Given the description of an element on the screen output the (x, y) to click on. 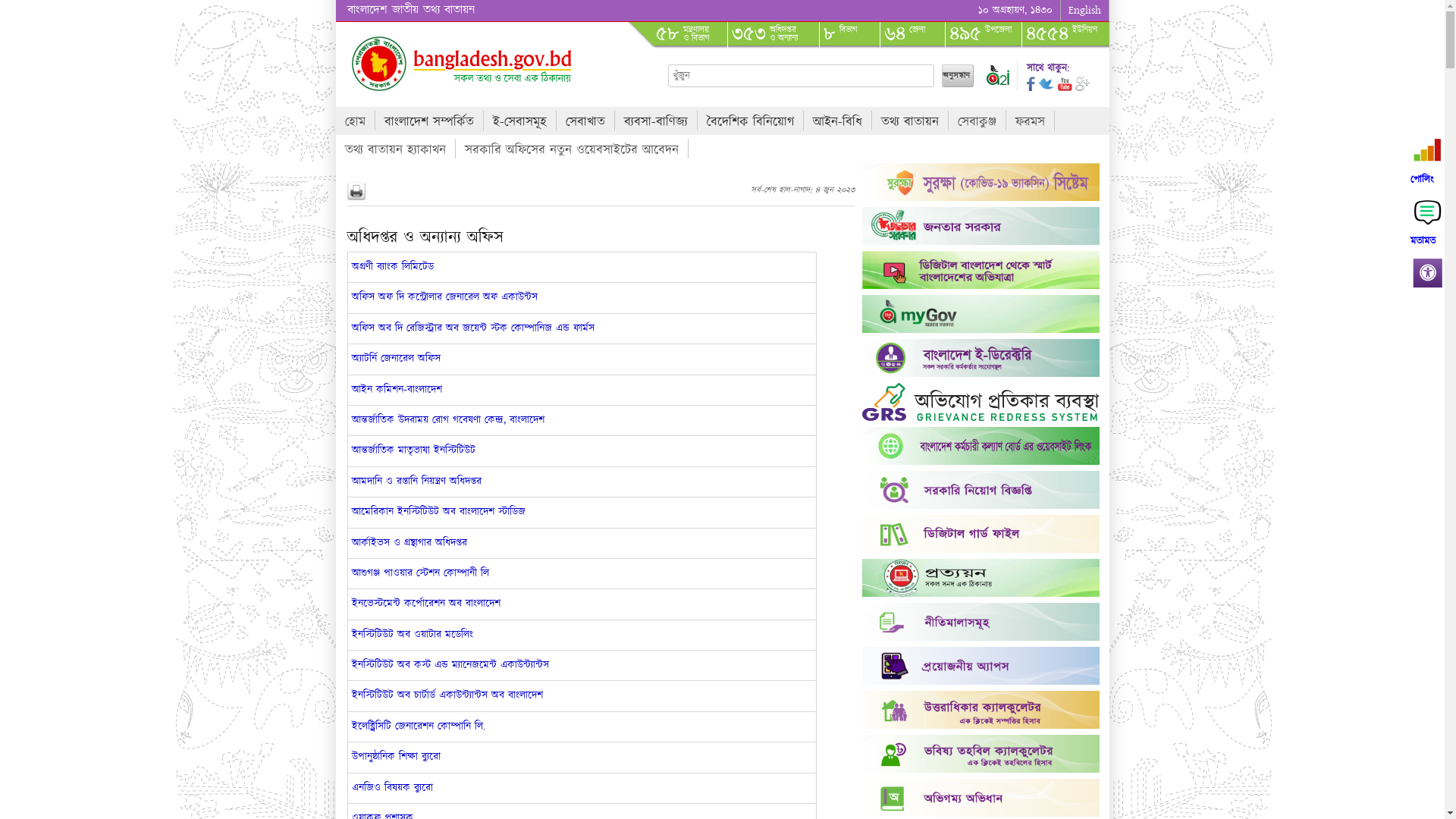
English Element type: text (1083, 10)
